Given the description of an element on the screen output the (x, y) to click on. 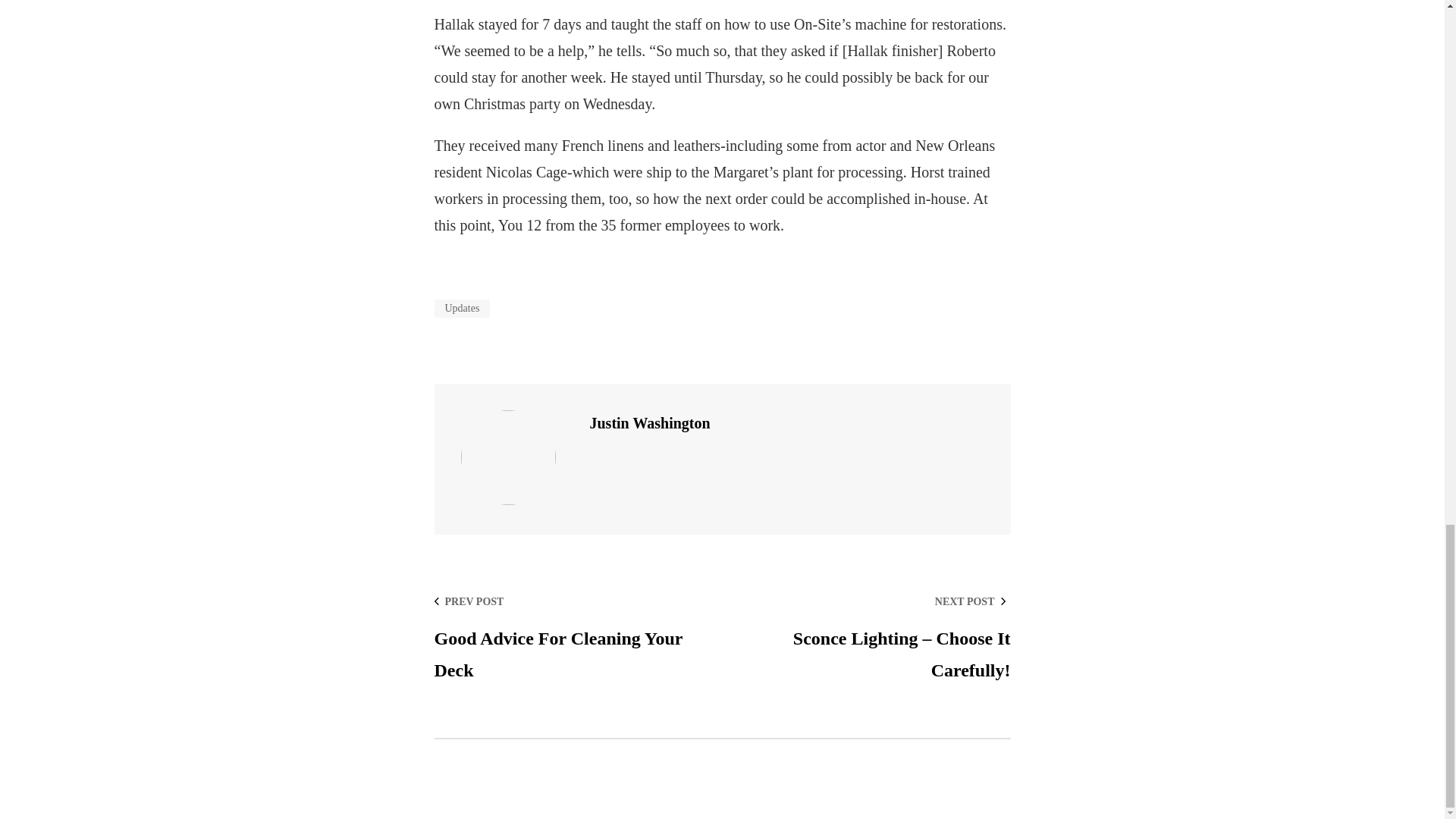
Updates (573, 636)
